Given the description of an element on the screen output the (x, y) to click on. 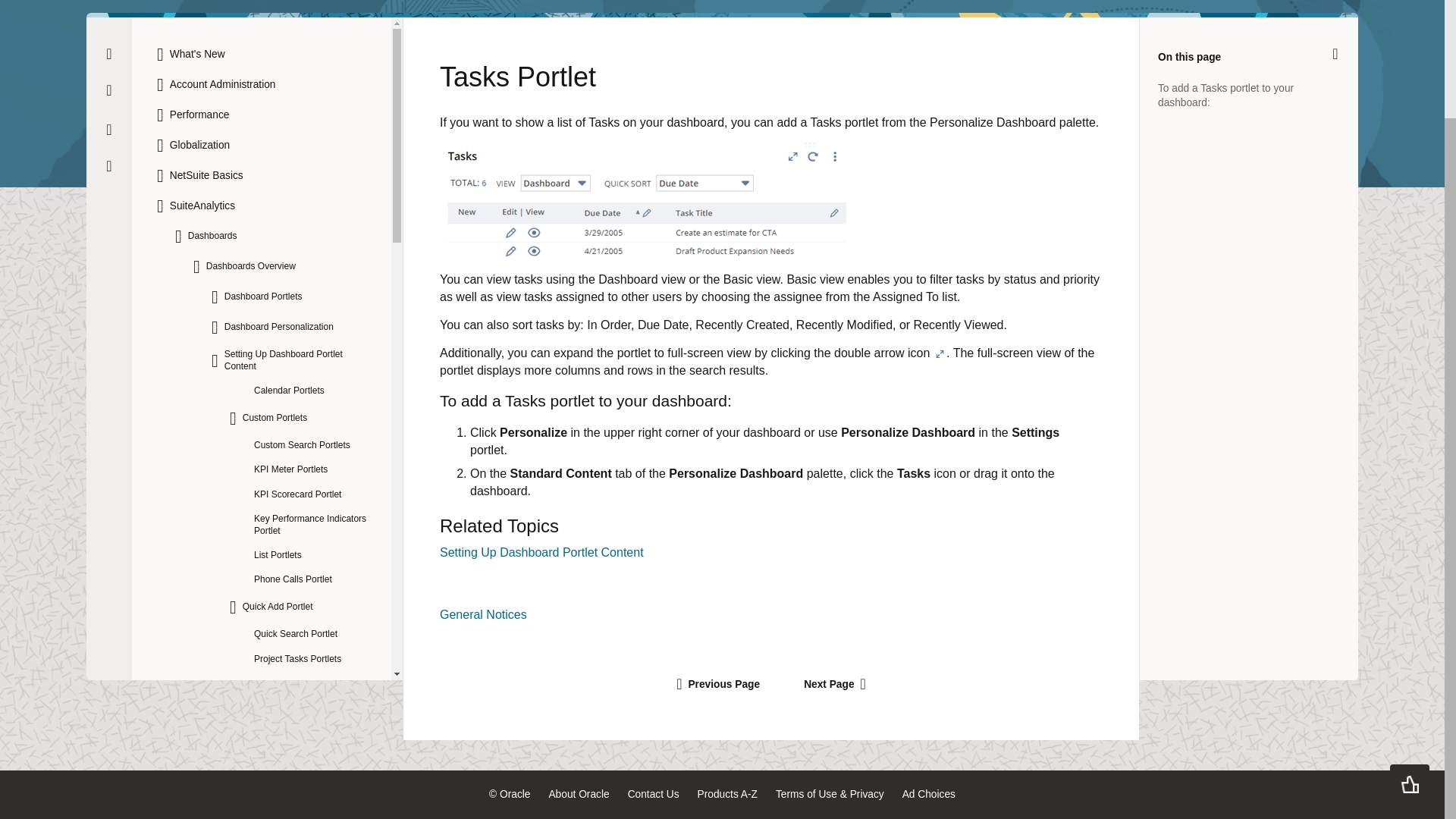
Close (109, 53)
Share on Social Media (109, 165)
Table of Contents (109, 129)
Close (1335, 53)
Expand All (108, 90)
